Given the description of an element on the screen output the (x, y) to click on. 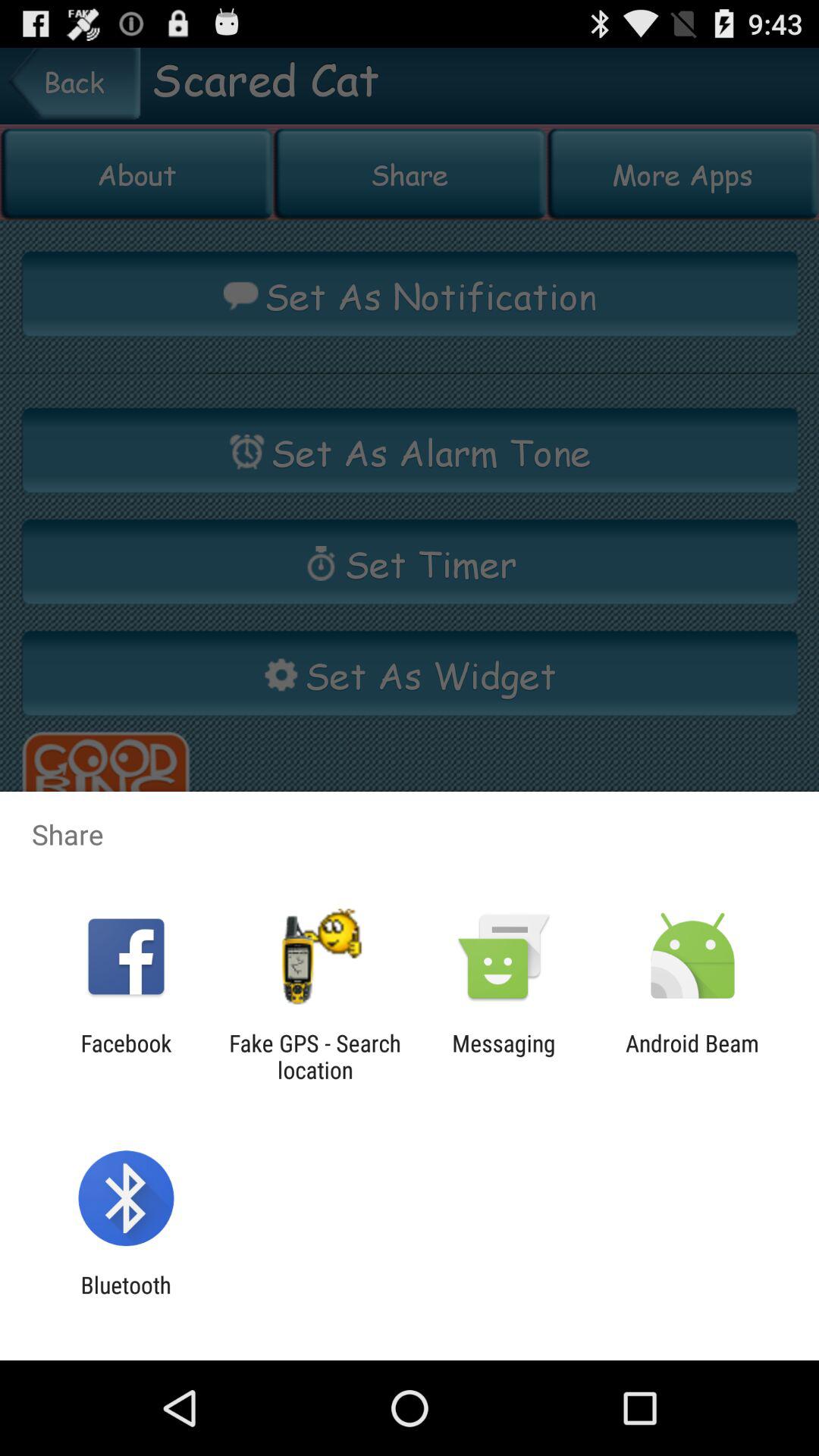
choose facebook app (125, 1056)
